Given the description of an element on the screen output the (x, y) to click on. 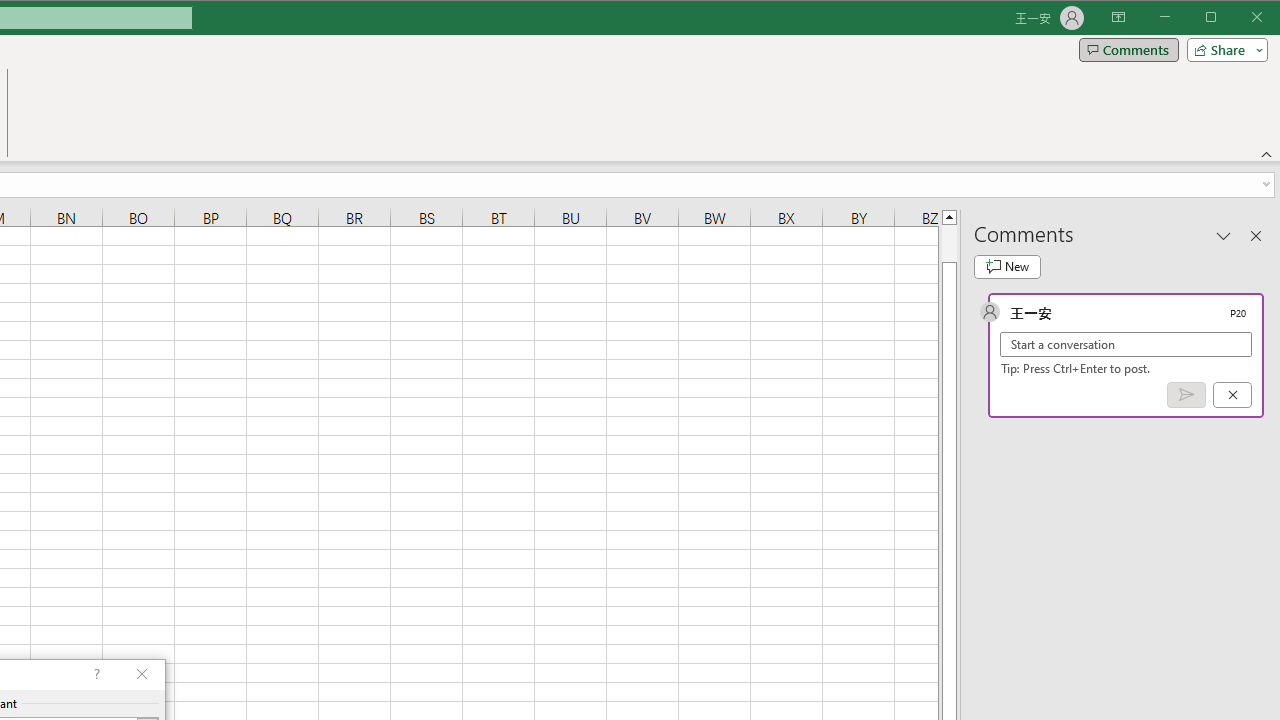
Page up (948, 243)
Minimize (1217, 18)
New comment (1007, 266)
Maximize (1239, 18)
Cancel (1232, 395)
Post comment (Ctrl + Enter) (1186, 395)
Share (1223, 49)
Close pane (1256, 235)
Task Pane Options (1224, 235)
Line up (948, 216)
Comments (1128, 49)
Collapse the Ribbon (1267, 154)
